Given the description of an element on the screen output the (x, y) to click on. 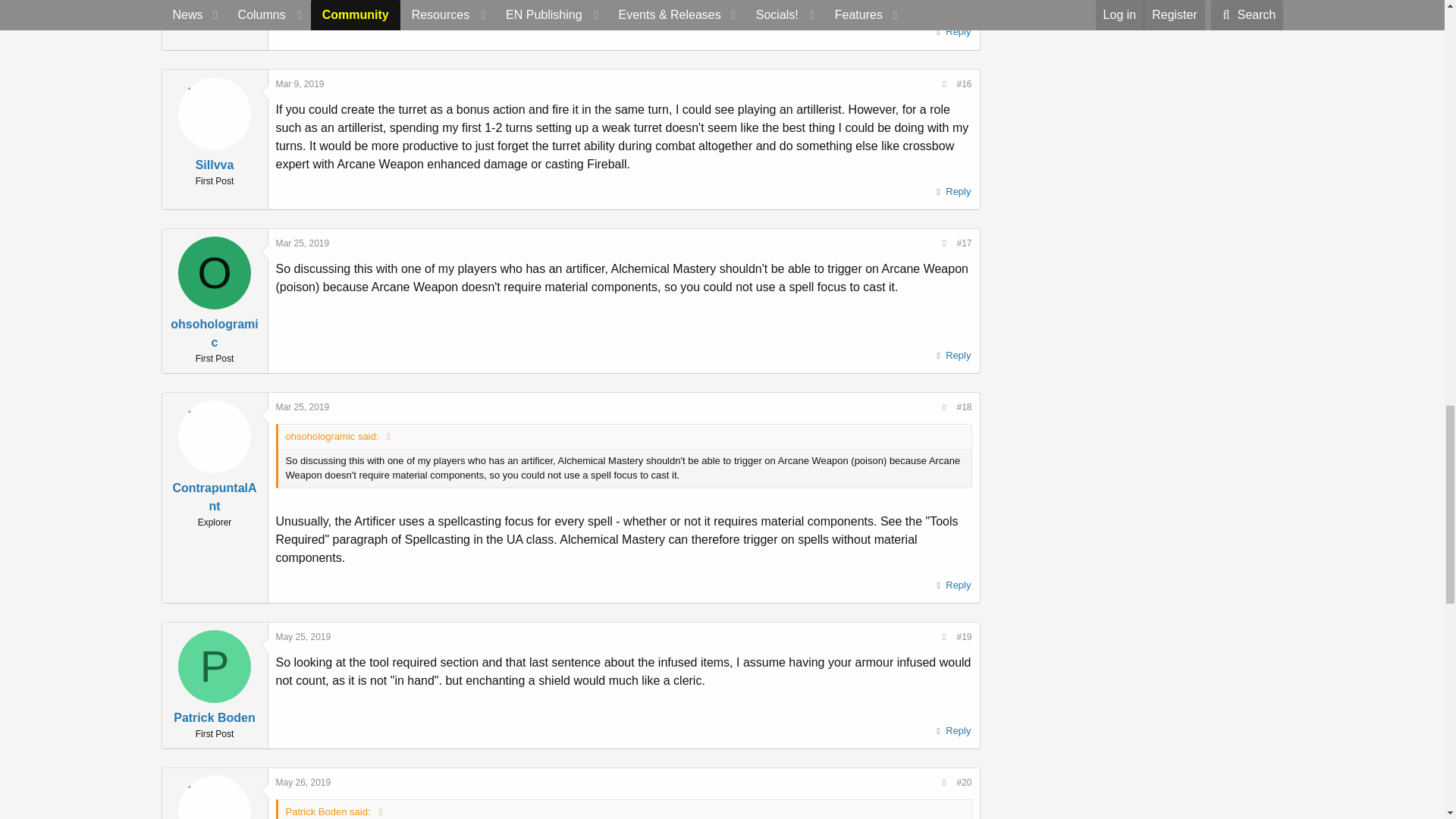
Reply, quoting this message (952, 31)
